Given the description of an element on the screen output the (x, y) to click on. 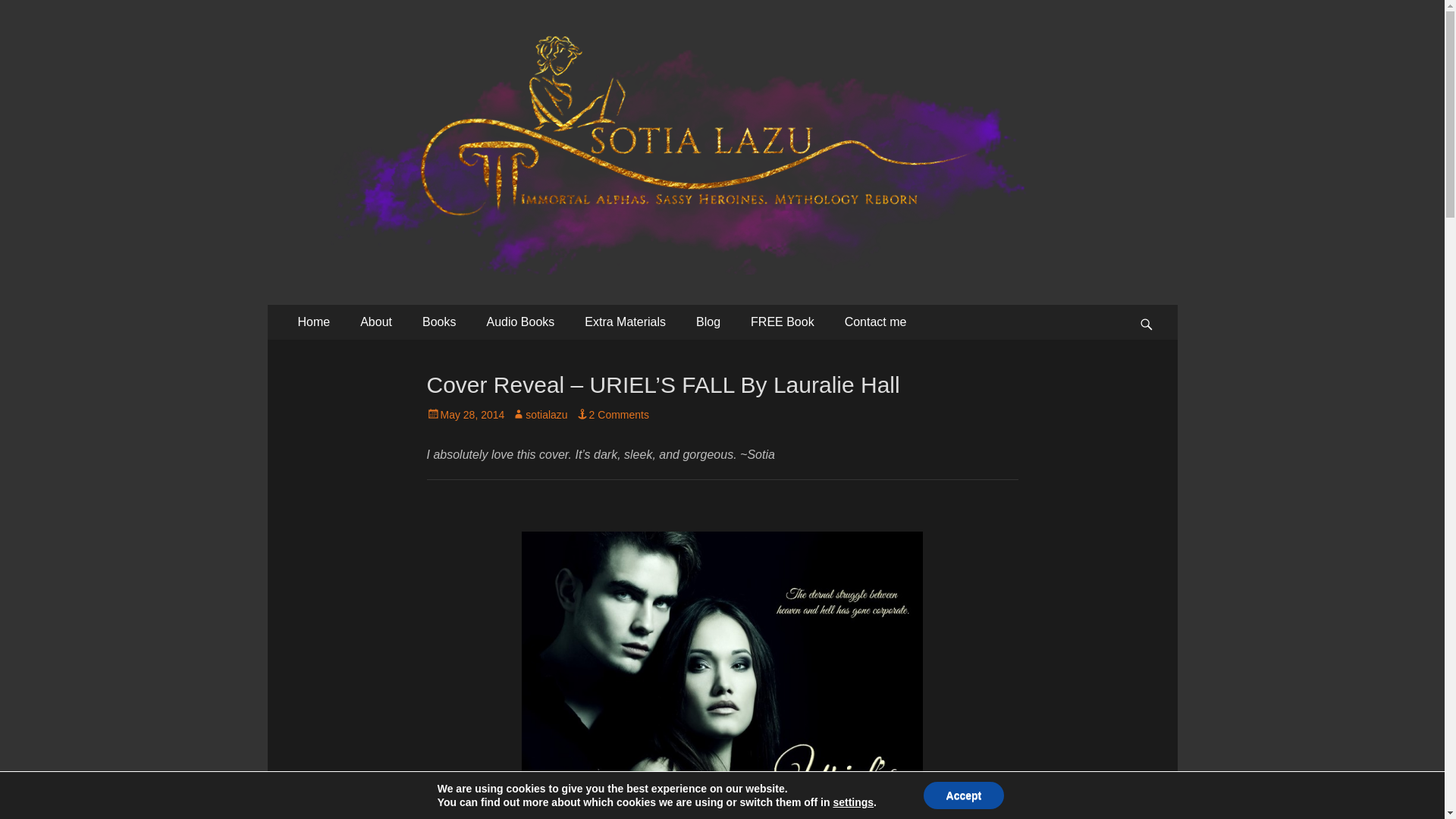
Audio Books (519, 321)
About (376, 321)
May 28, 2014 (464, 414)
Contact me (875, 321)
Extra Materials (625, 321)
FREE Book (782, 321)
Blog (708, 321)
Books (438, 321)
2 Comments (612, 414)
sotialazu (539, 414)
Home (313, 321)
